Given the description of an element on the screen output the (x, y) to click on. 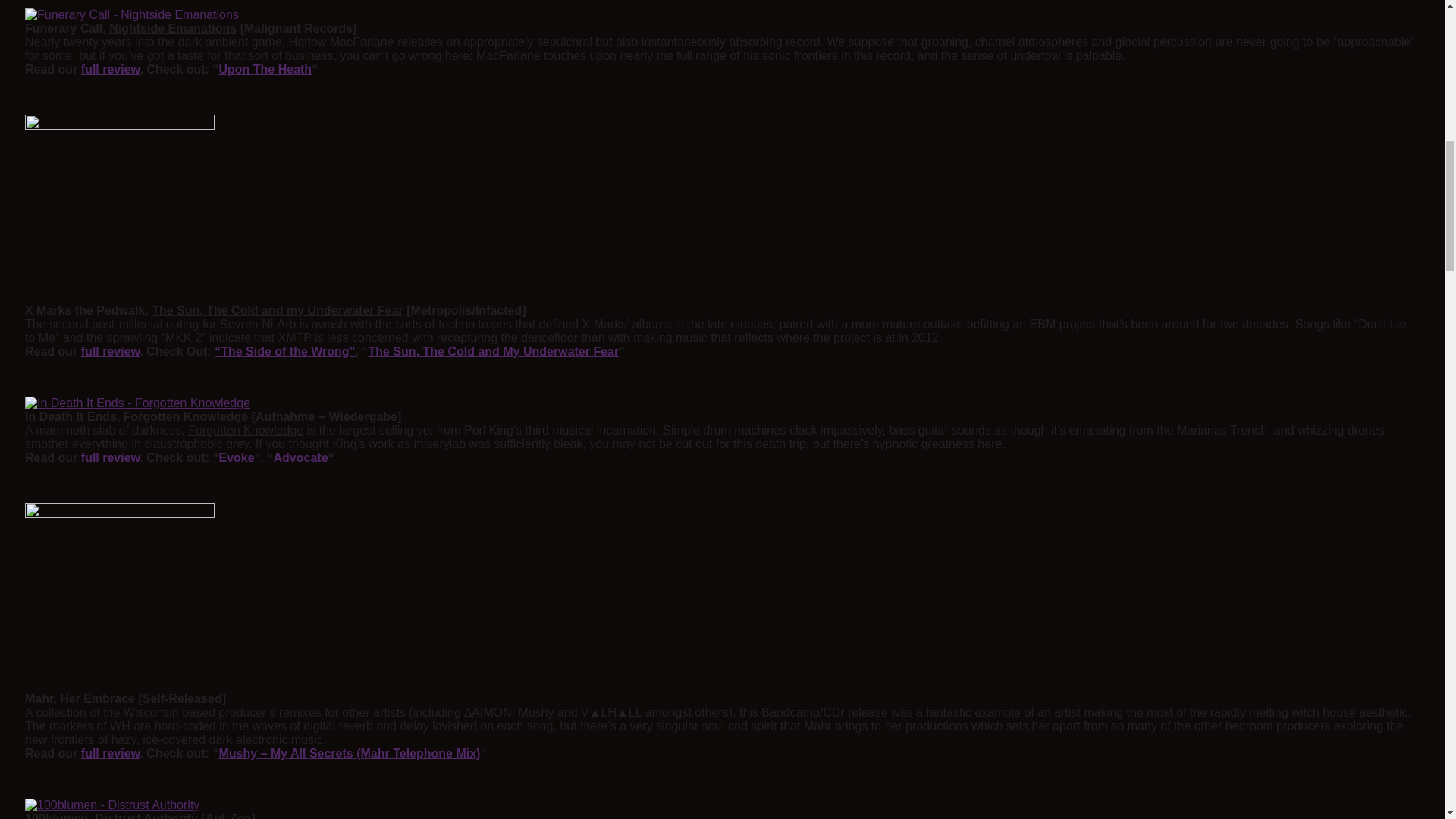
cover (119, 597)
full review (110, 69)
Upon The Heath (264, 69)
The Sun, The Cold and My Underwater Fear (494, 350)
full review (110, 350)
Funerary Call - Nightside Emanations (131, 15)
full review (110, 753)
100blumen - Distrust Authority (111, 805)
In Death It Ends - Forgotten Knowledge (137, 403)
XMARKS (119, 208)
Advocate (300, 457)
Evoke (235, 457)
full review (110, 457)
